Given the description of an element on the screen output the (x, y) to click on. 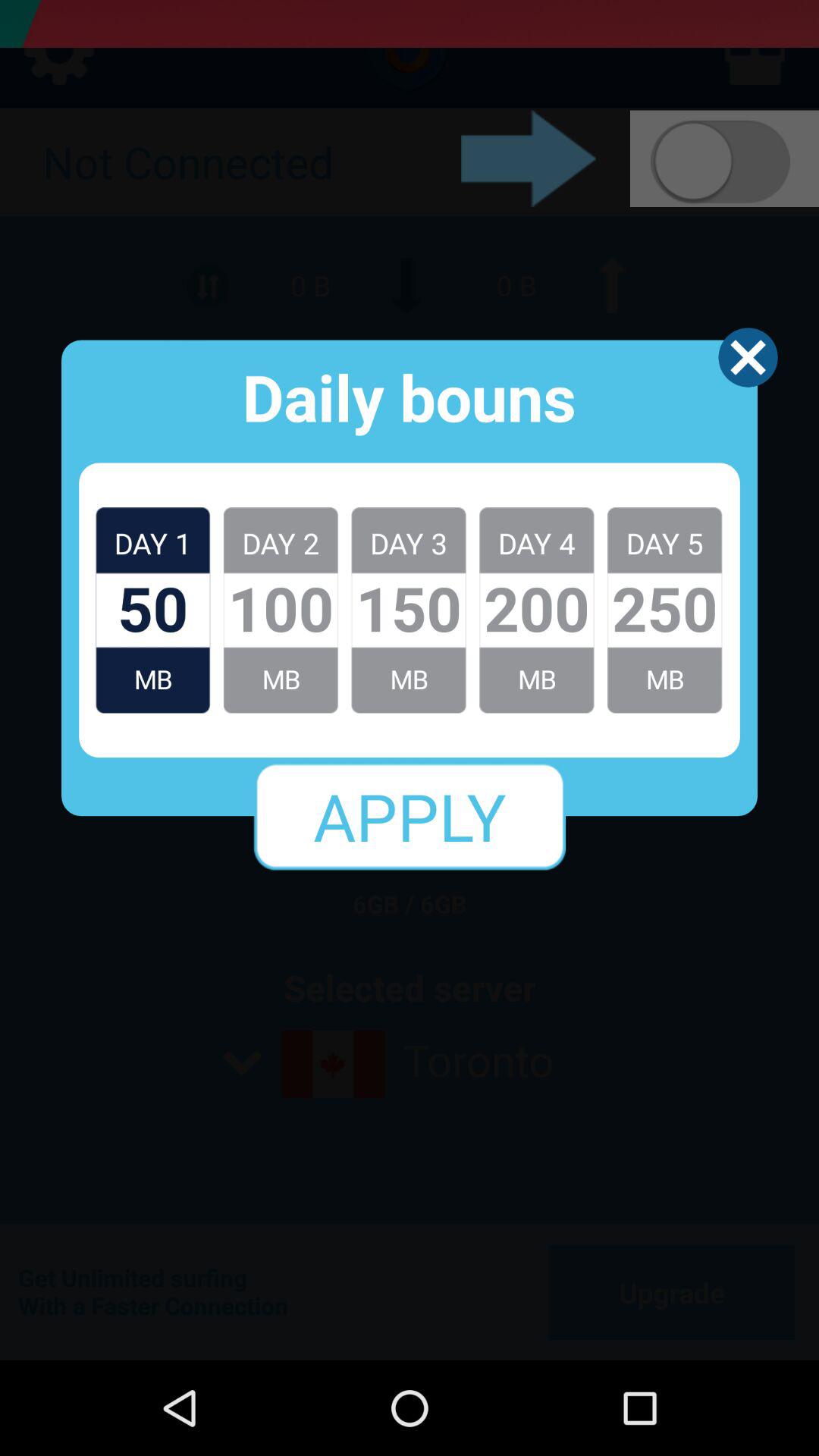
open the app to the right of the daily bouns app (747, 357)
